Given the description of an element on the screen output the (x, y) to click on. 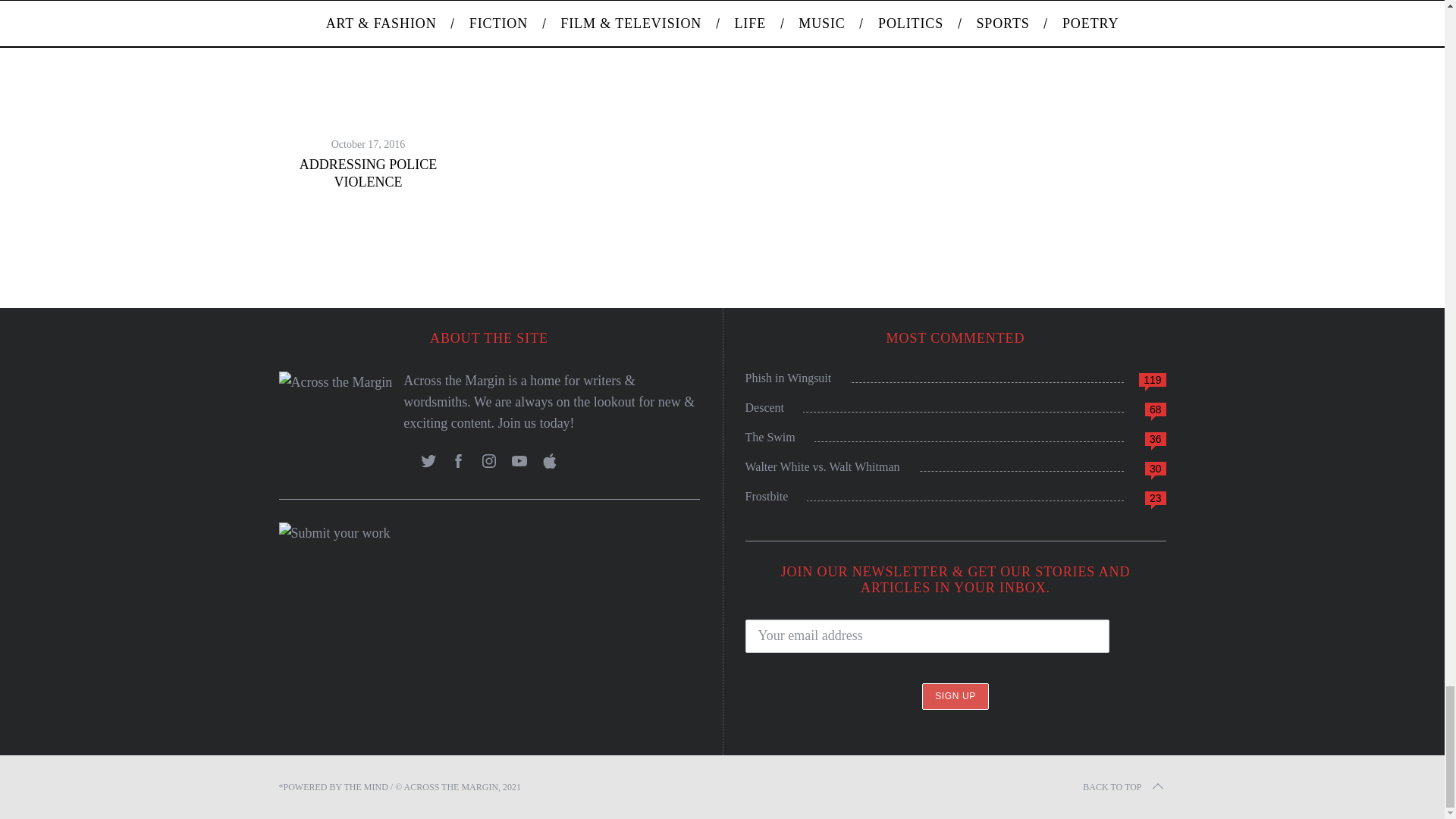
ADDRESSING POLICE VIOLENCE (368, 173)
Sign up (954, 696)
PLANS (368, 4)
